Given the description of an element on the screen output the (x, y) to click on. 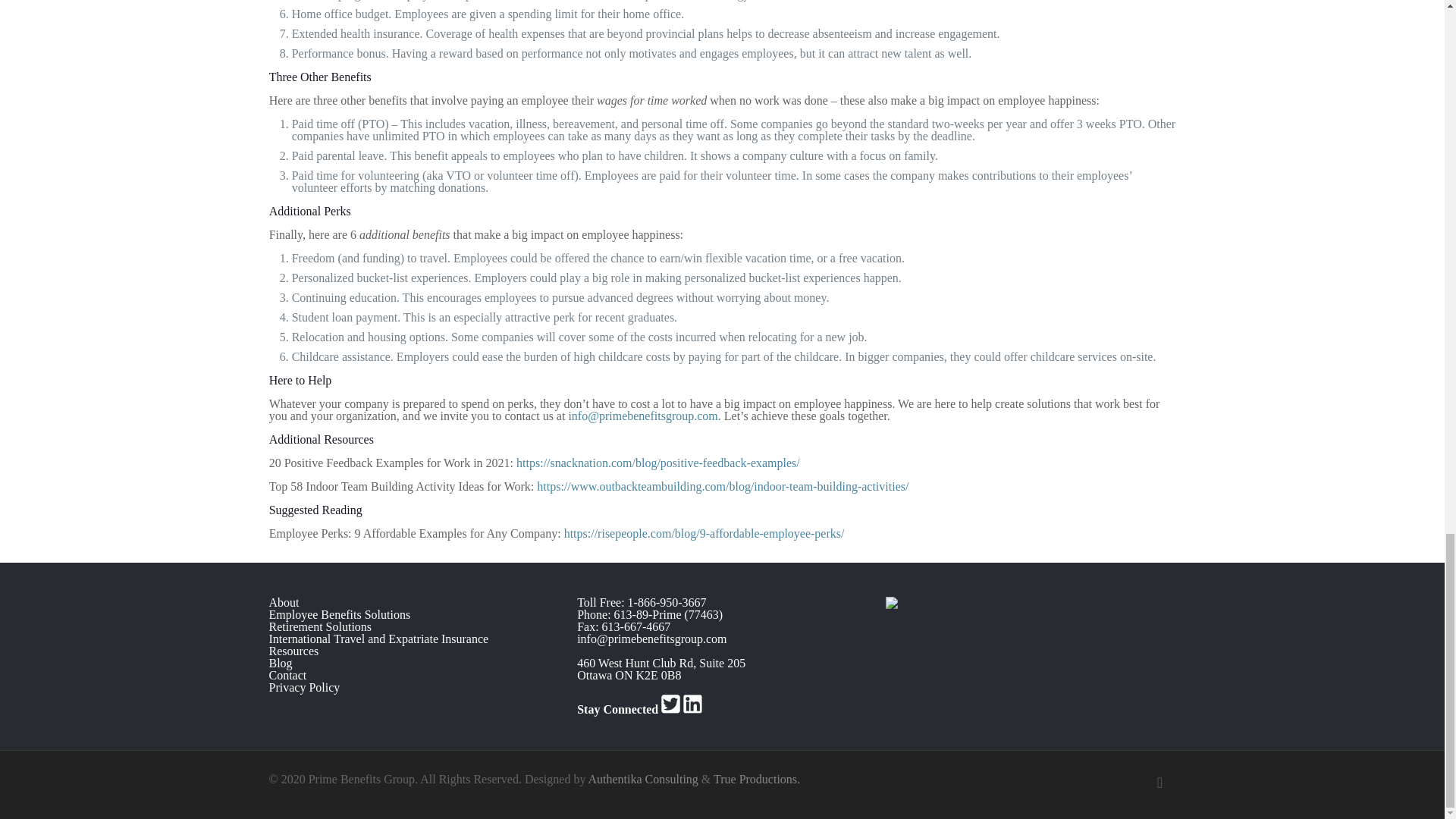
Privacy Policy (303, 686)
About (282, 602)
International Travel and Expatriate Insurance (377, 638)
1-866-950-3667 (666, 602)
Employee Benefits Solutions (338, 614)
Authentika Consulting (643, 779)
Retirement Solutions (319, 626)
Contact (286, 675)
Blog (279, 662)
Resources (292, 650)
